Given the description of an element on the screen output the (x, y) to click on. 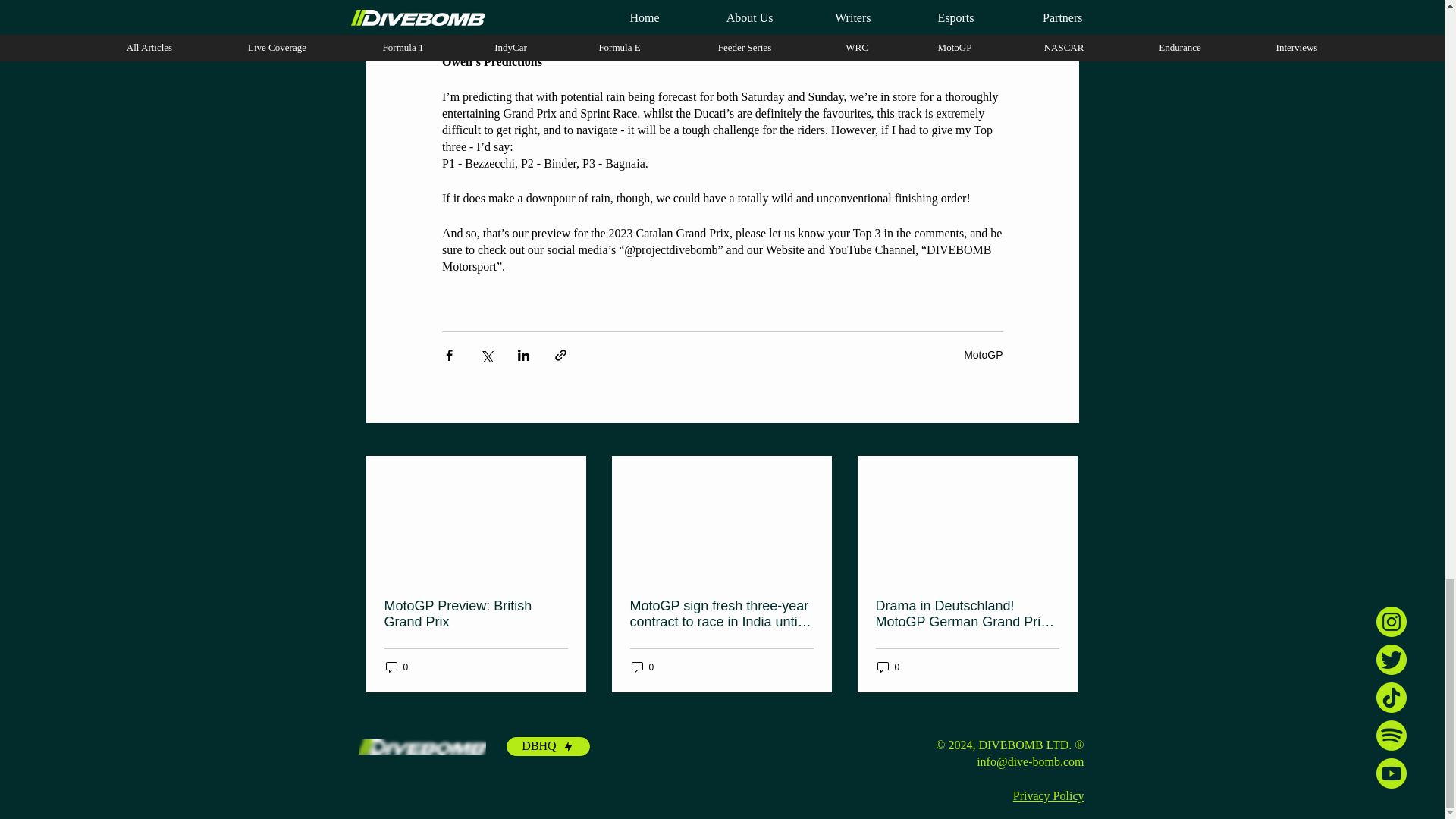
MotoGP (983, 354)
0 (641, 667)
MotoGP Preview: British Grand Prix (475, 613)
0 (396, 667)
